Given the description of an element on the screen output the (x, y) to click on. 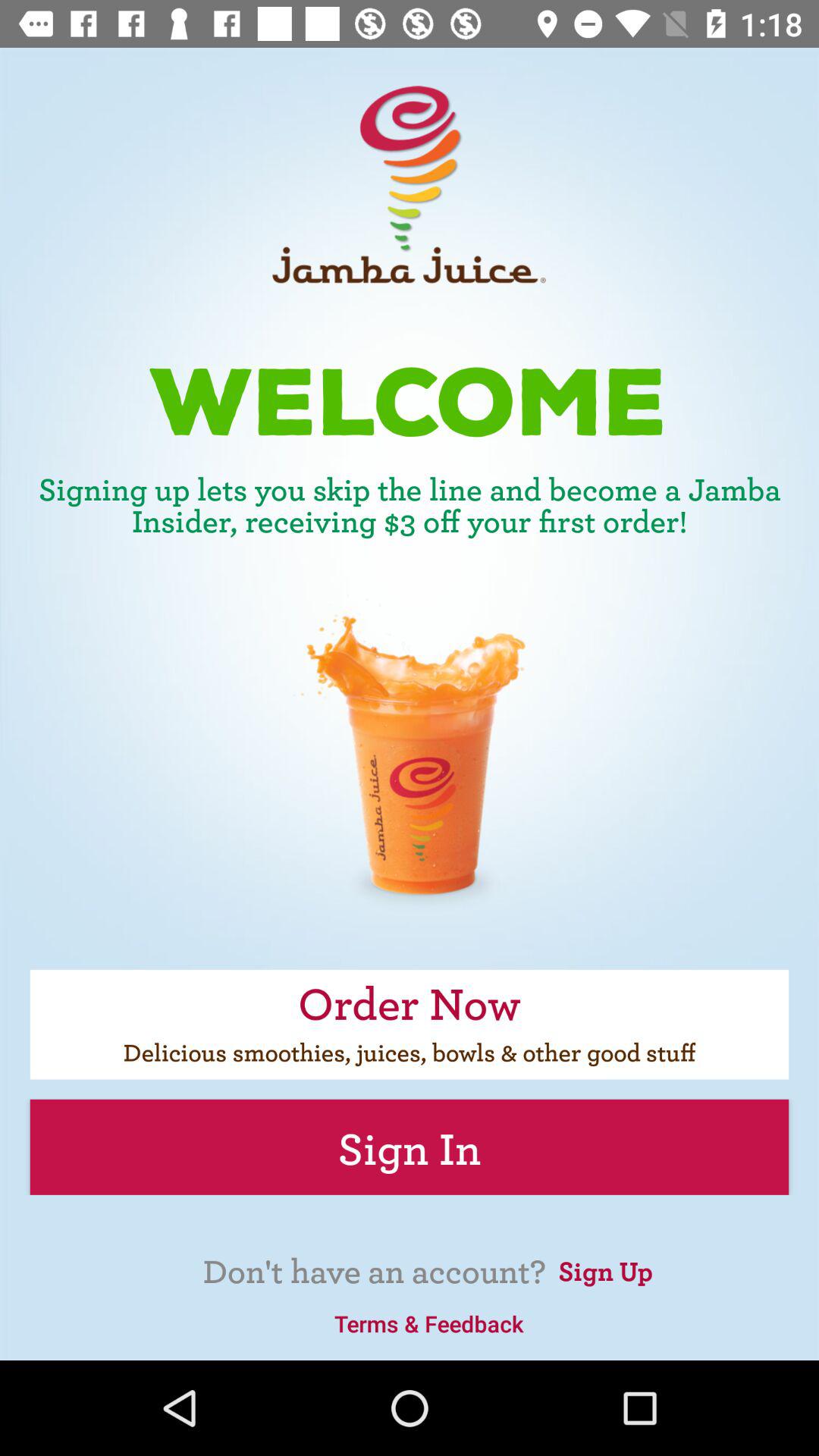
press sign in (409, 1146)
